Given the description of an element on the screen output the (x, y) to click on. 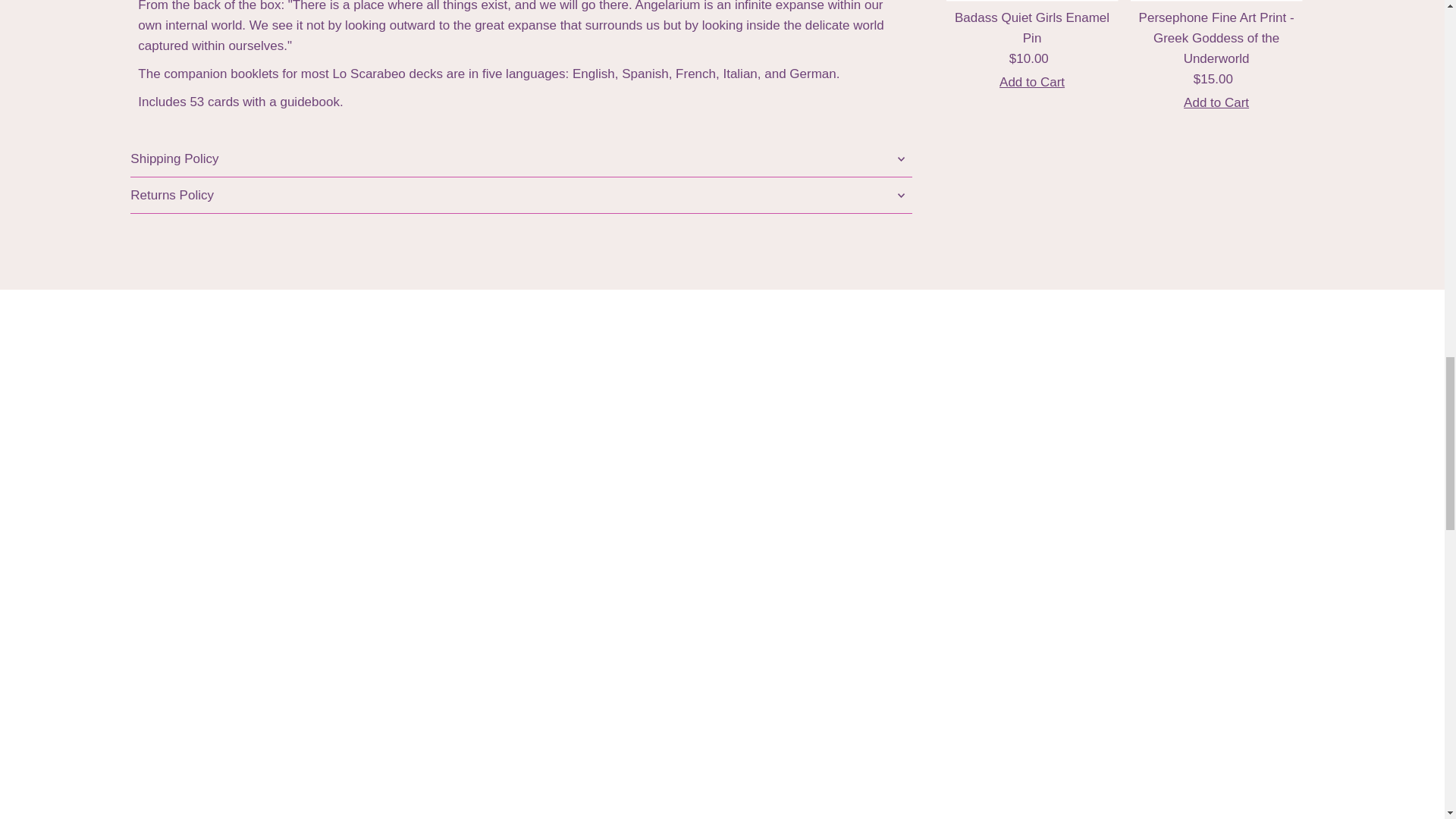
Add to Cart (1216, 102)
Add to Cart (1031, 82)
